Given the description of an element on the screen output the (x, y) to click on. 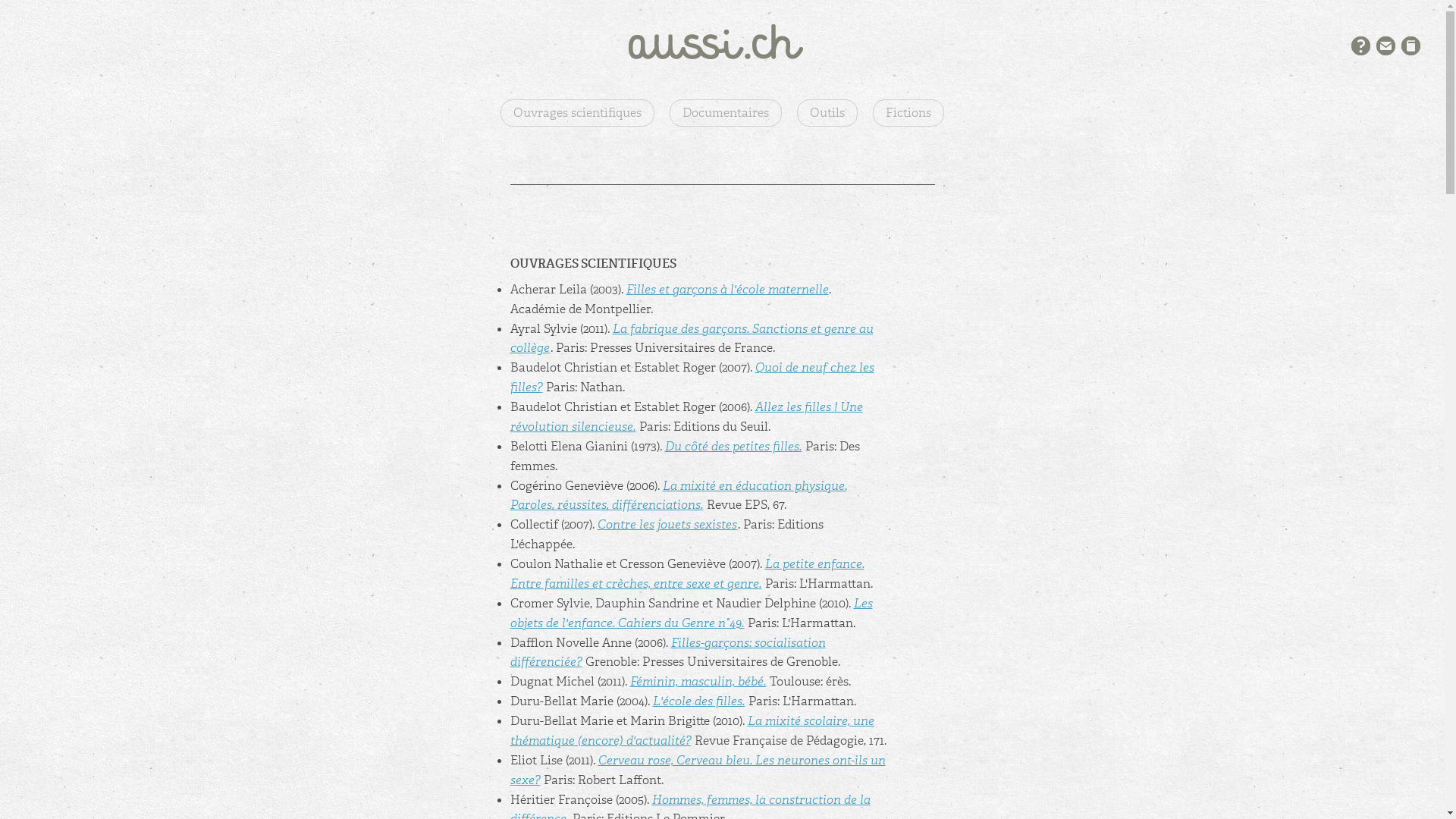
Documentaires Element type: text (725, 112)
Fictions Element type: text (908, 112)
Cerveau rose, Cerveau bleu. Les neurones ont-ils un sexe? Element type: text (696, 769)
Bibliographie Element type: text (1410, 45)
Outils Element type: text (827, 112)
Contre les jouets sexistes Element type: text (667, 524)
aussi.ch Element type: text (722, 41)
Contact Element type: text (1385, 45)
Quoi de neuf chez les filles? Element type: text (691, 377)
Ouvrages scientifiques Element type: text (577, 112)
